Given the description of an element on the screen output the (x, y) to click on. 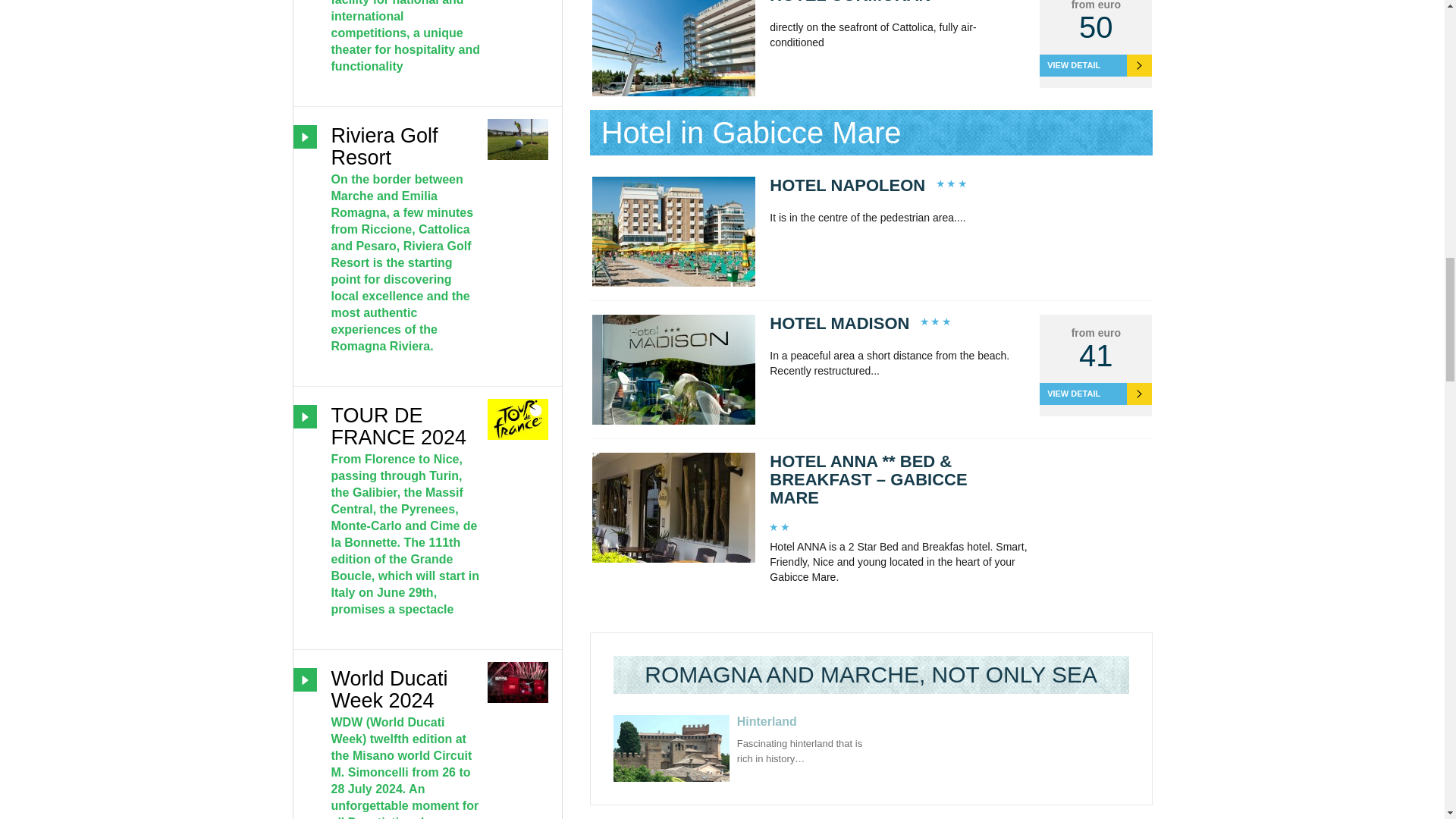
VIEW DETAIL (1095, 393)
Hinterland (766, 721)
HOTEL NAPOLEON (847, 185)
HOTEL MADISON (839, 322)
HOTEL CORMORAN (850, 2)
VIEW DETAIL (1095, 65)
